Given the description of an element on the screen output the (x, y) to click on. 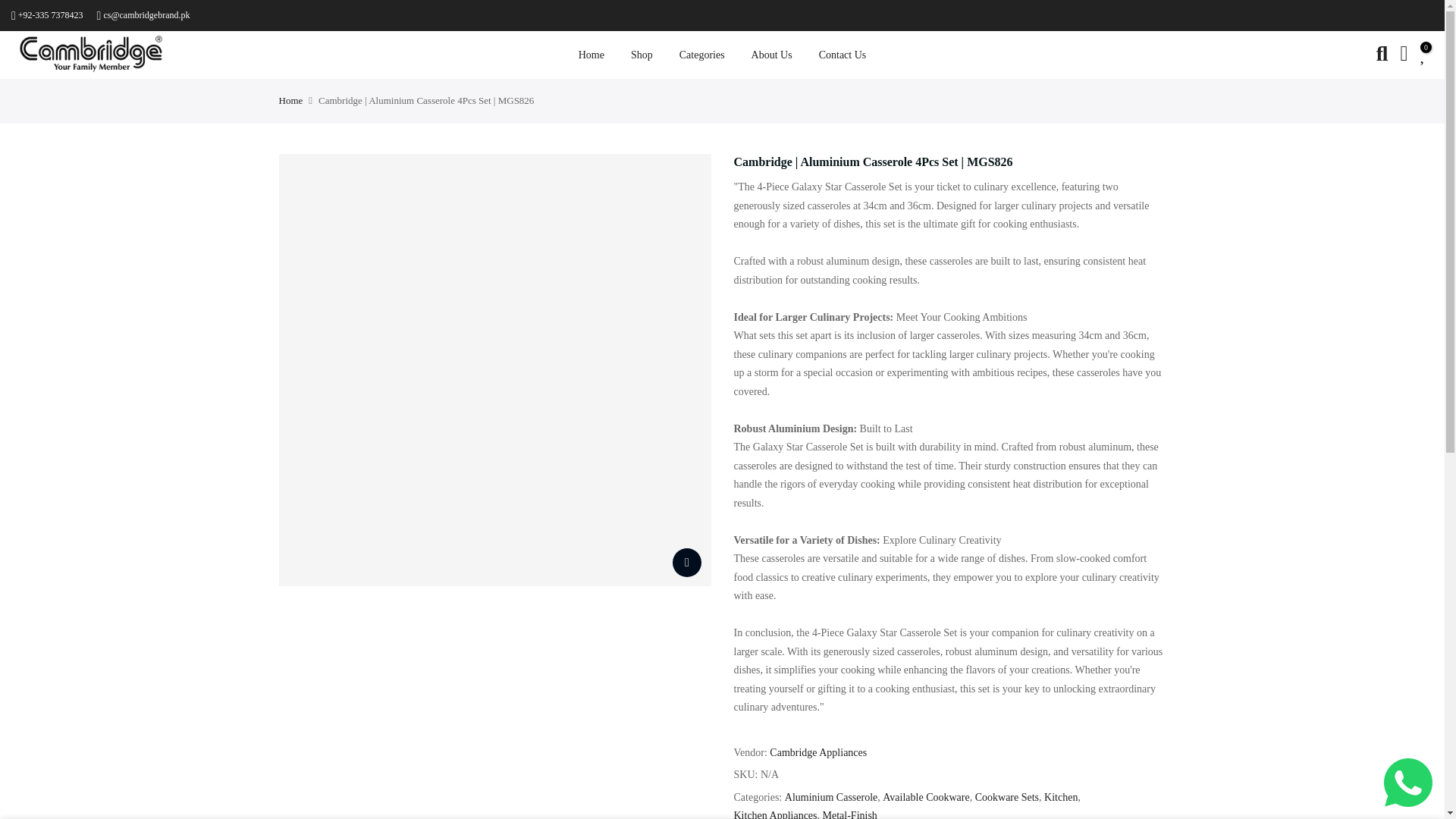
Categories (701, 54)
Cambridge Appliances (818, 752)
Shop (641, 54)
Home (590, 54)
